Given the description of an element on the screen output the (x, y) to click on. 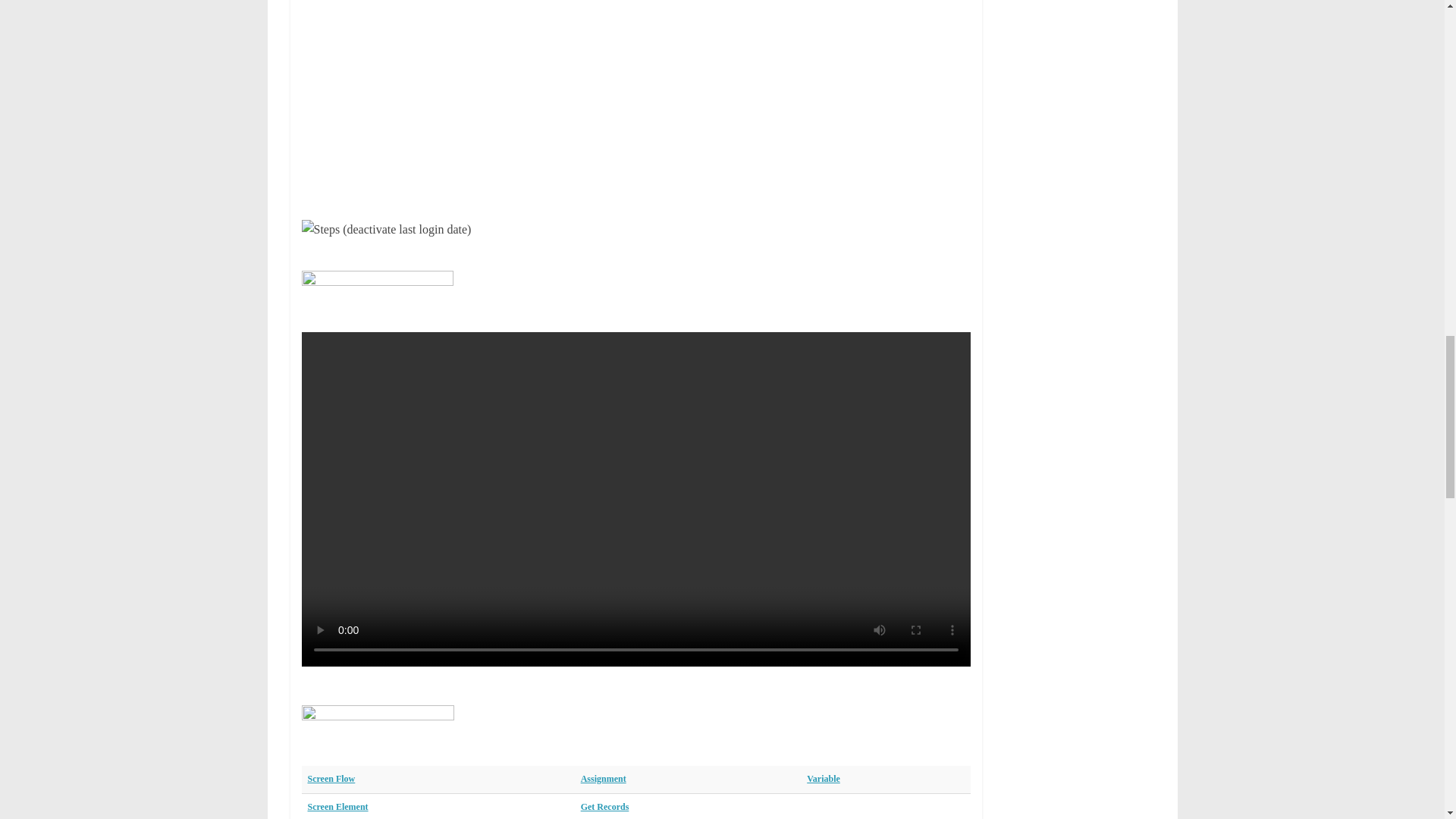
Screen Flow (331, 778)
Assignment (603, 778)
Screen Element (337, 806)
Get Records (604, 806)
Variable (823, 778)
